Given the description of an element on the screen output the (x, y) to click on. 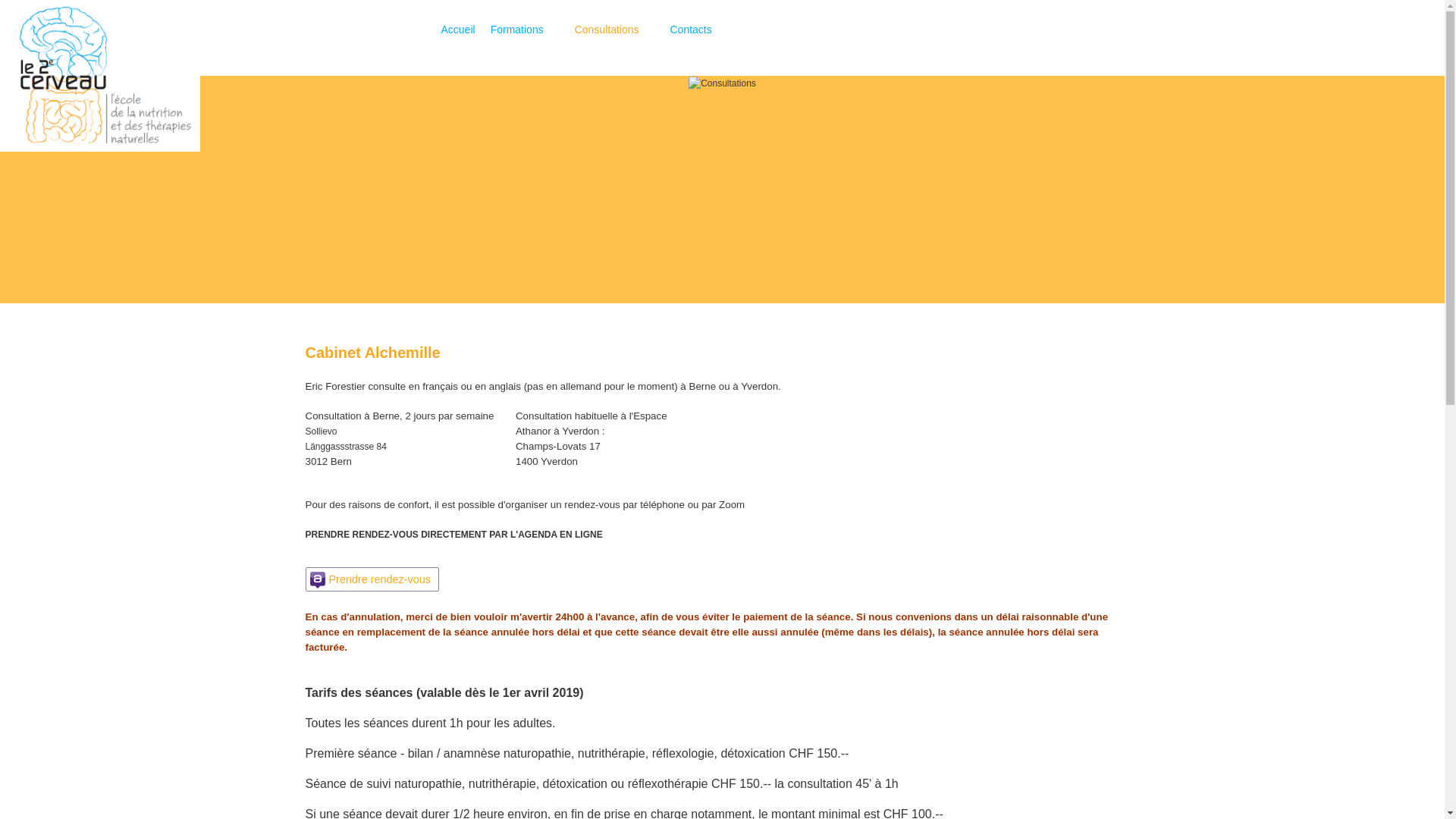
Consultations Element type: text (614, 29)
Prendre rendez-vous Element type: text (371, 579)
Formations Element type: text (524, 29)
Accueil Element type: text (458, 29)
